Given the description of an element on the screen output the (x, y) to click on. 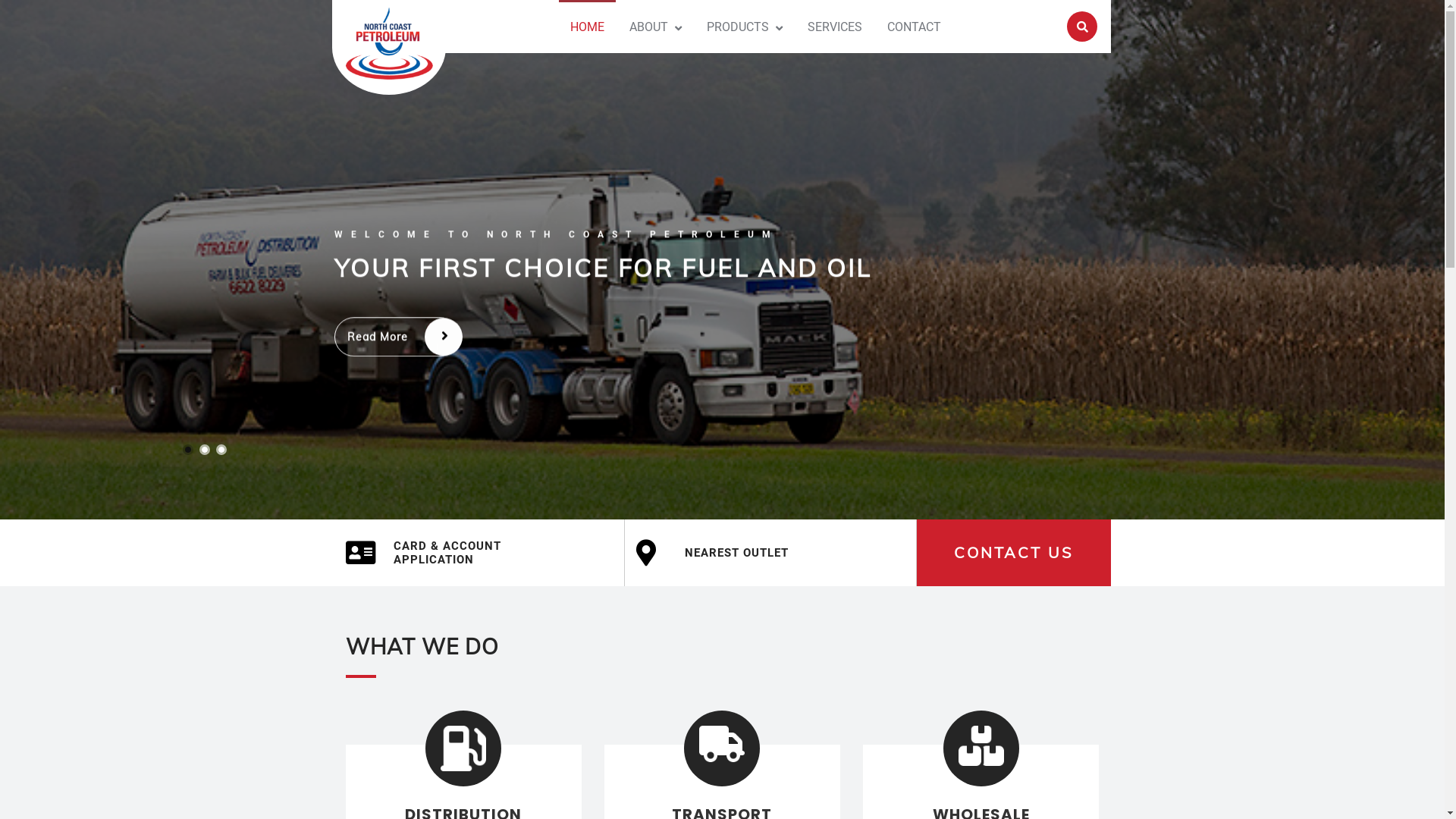
PRODUCTS Element type: text (737, 26)
CONTACT Element type: text (914, 26)
SERVICES Element type: text (834, 26)
CONTACT US Element type: text (1013, 551)
Read More Element type: text (395, 336)
ABOUT Element type: text (648, 26)
NEAREST OUTLET Element type: text (770, 552)
HOME Element type: text (587, 26)
#slidecaption1 Element type: hover (722, 259)
CARD & ACCOUNT APPLICATION Element type: text (479, 552)
